Given the description of an element on the screen output the (x, y) to click on. 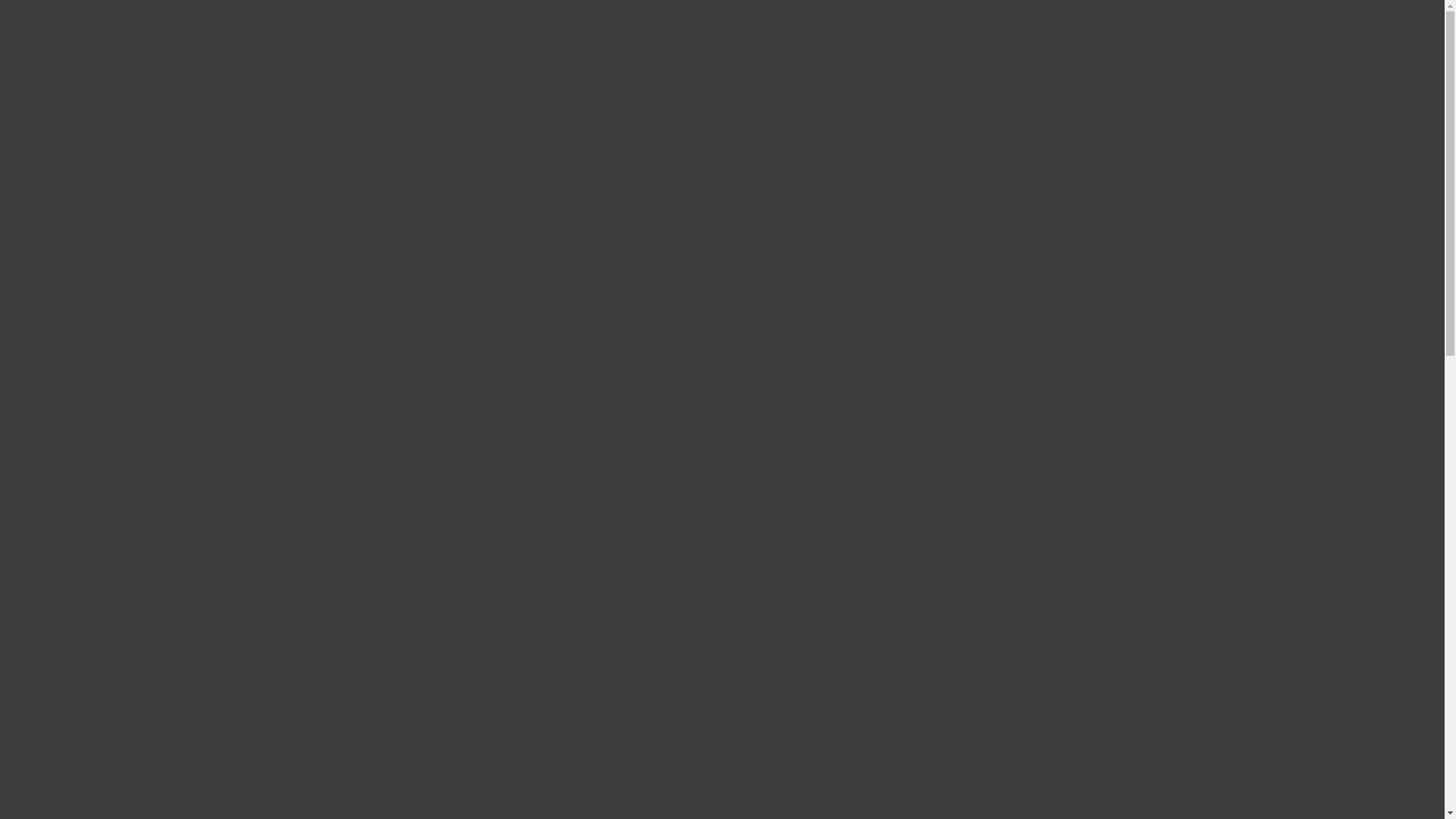
MEAN WELL Element type: text (184, 34)
cn Element type: hover (1267, 34)
facebook Element type: text (1172, 403)
seach Element type: text (1298, 34)
